Given the description of an element on the screen output the (x, y) to click on. 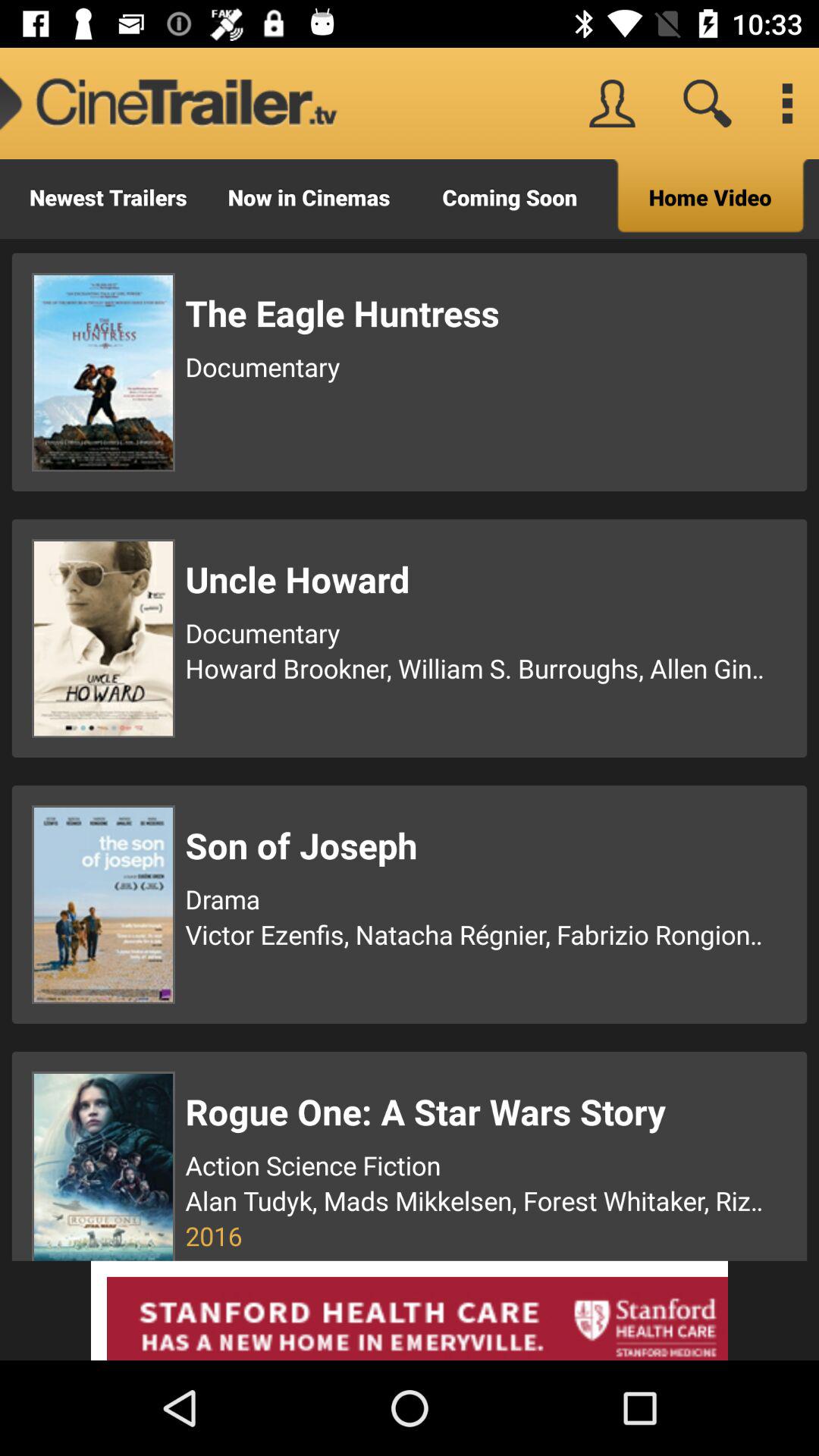
click item above home video (787, 103)
